Given the description of an element on the screen output the (x, y) to click on. 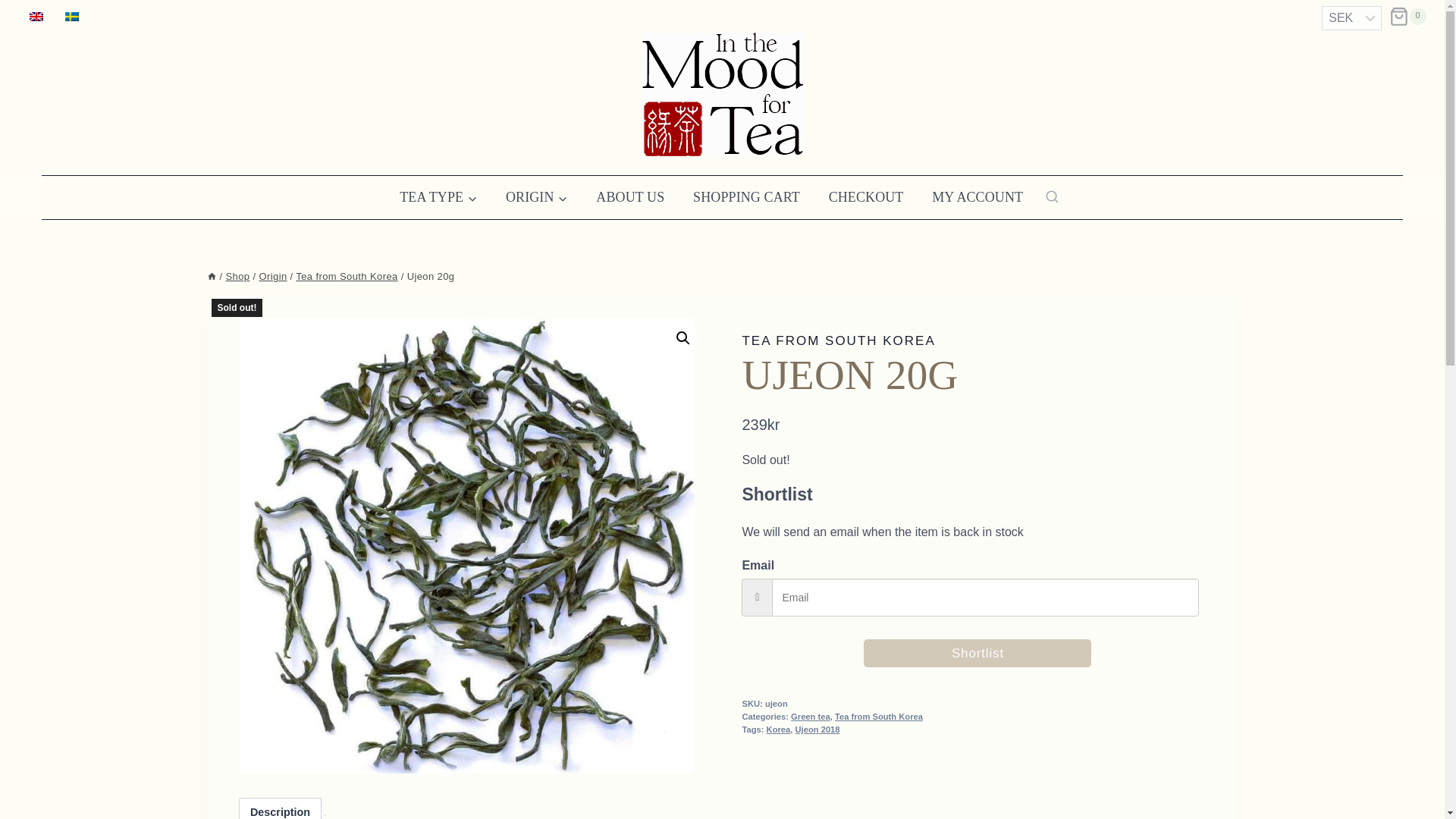
TEA TYPE (438, 197)
MY ACCOUNT (976, 197)
ABOUT US (629, 197)
Swedish (71, 16)
ORIGIN (536, 197)
SHOPPING CART (745, 197)
CHECKOUT (865, 197)
0 (1407, 16)
English (36, 16)
